Given the description of an element on the screen output the (x, y) to click on. 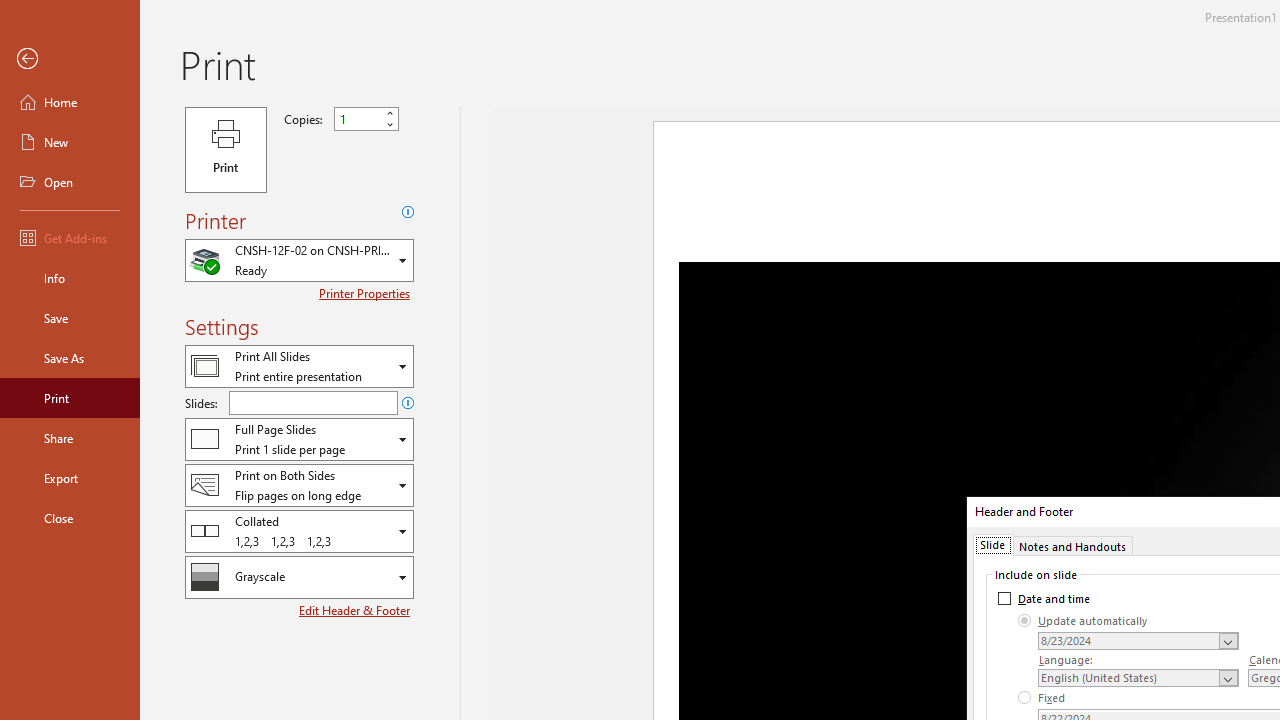
Export (69, 477)
Notes and Handouts (1072, 544)
Save As (69, 357)
